Given the description of an element on the screen output the (x, y) to click on. 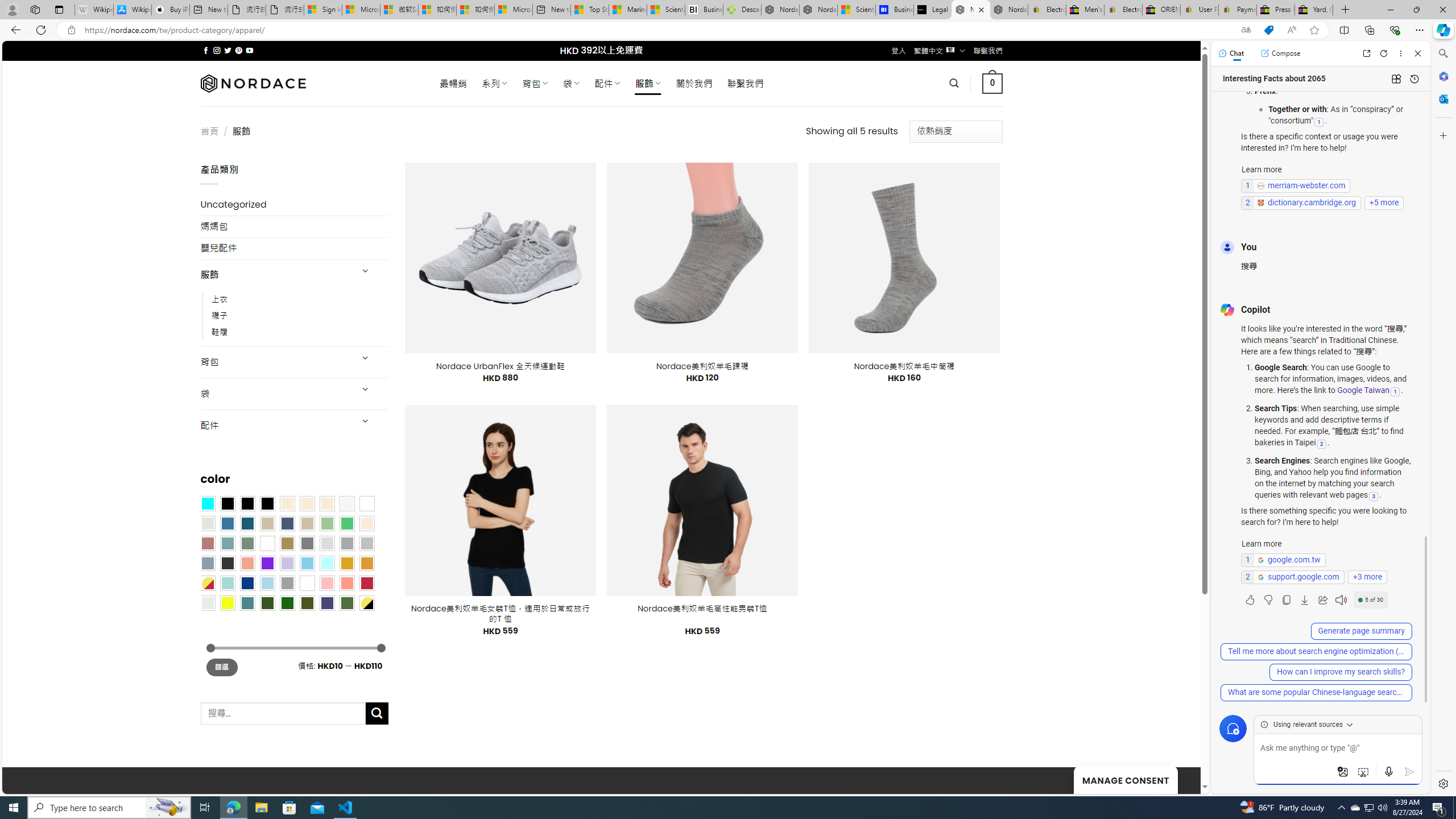
Dull Nickle (207, 602)
